Given the description of an element on the screen output the (x, y) to click on. 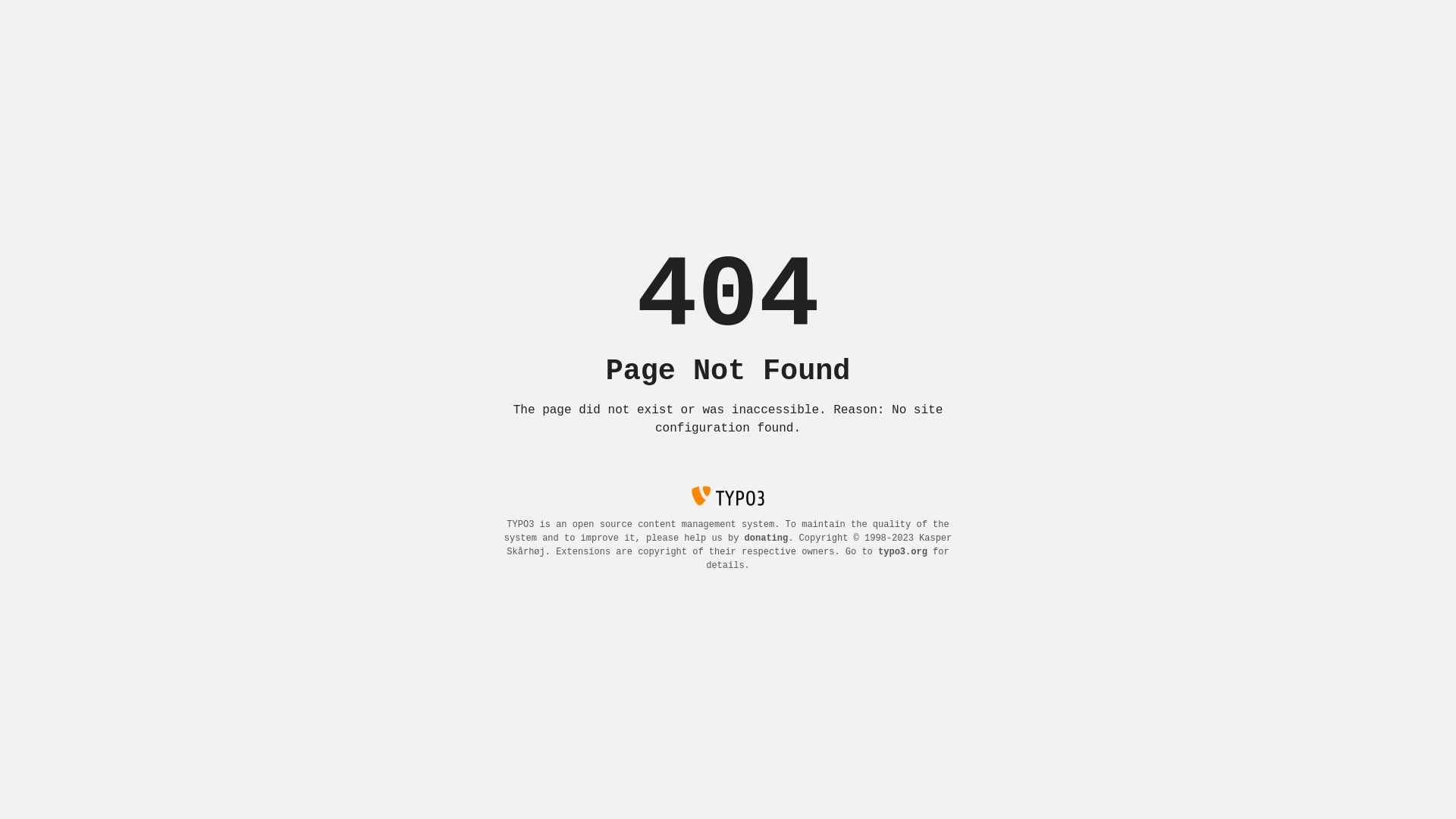
donating Element type: text (766, 538)
typo3.org Element type: text (902, 551)
